Given the description of an element on the screen output the (x, y) to click on. 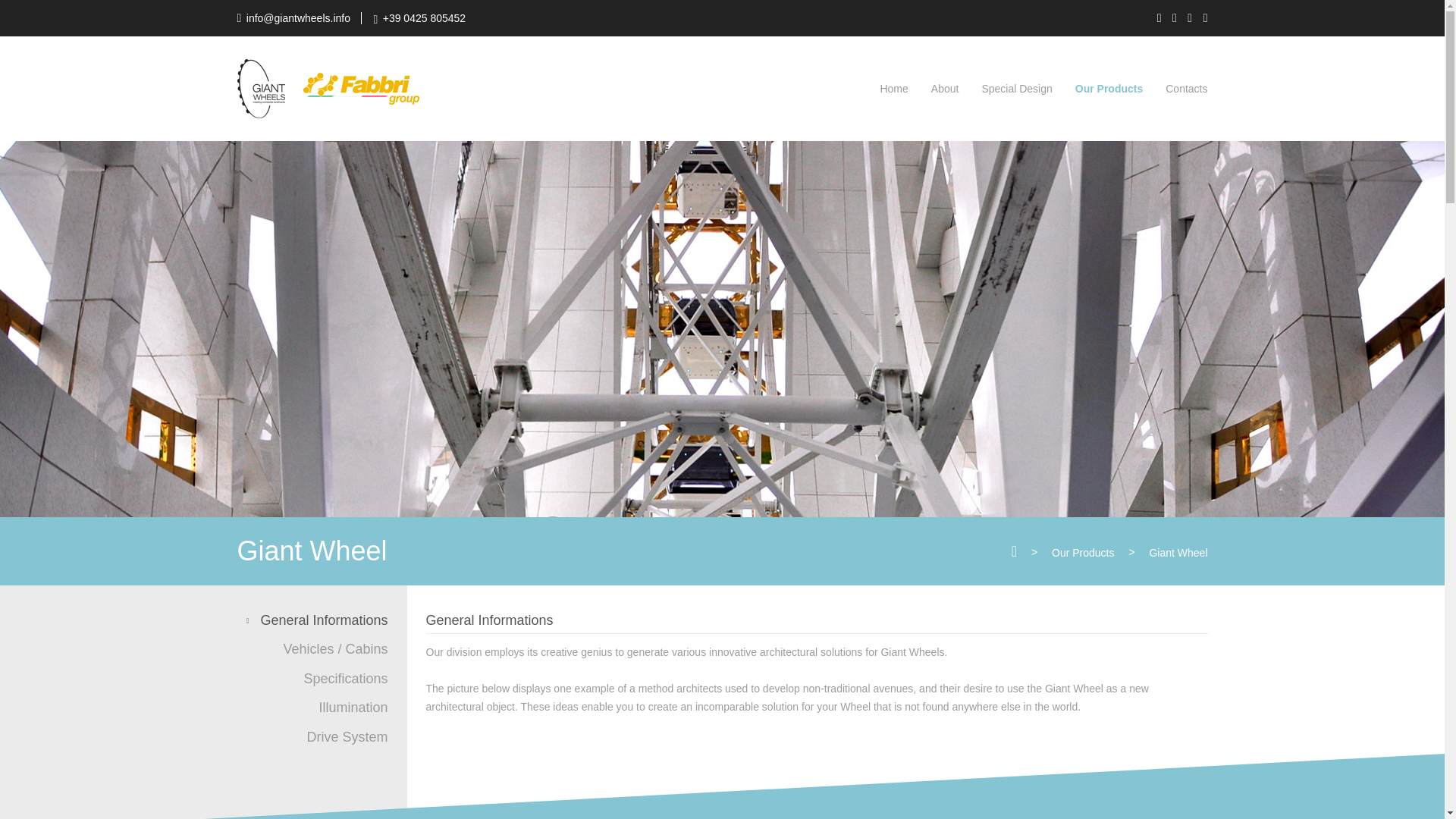
Illumination (347, 707)
Specifications (339, 678)
Our Products (1082, 552)
Home (893, 88)
General Informations (317, 620)
Giant Wheel - 60mt (1177, 552)
About (945, 88)
Our Products (1082, 552)
Our Products (1108, 88)
email (292, 17)
Home (893, 88)
phone (418, 17)
Drive System (341, 737)
Special Design (1016, 88)
Special Design (1016, 88)
